Given the description of an element on the screen output the (x, y) to click on. 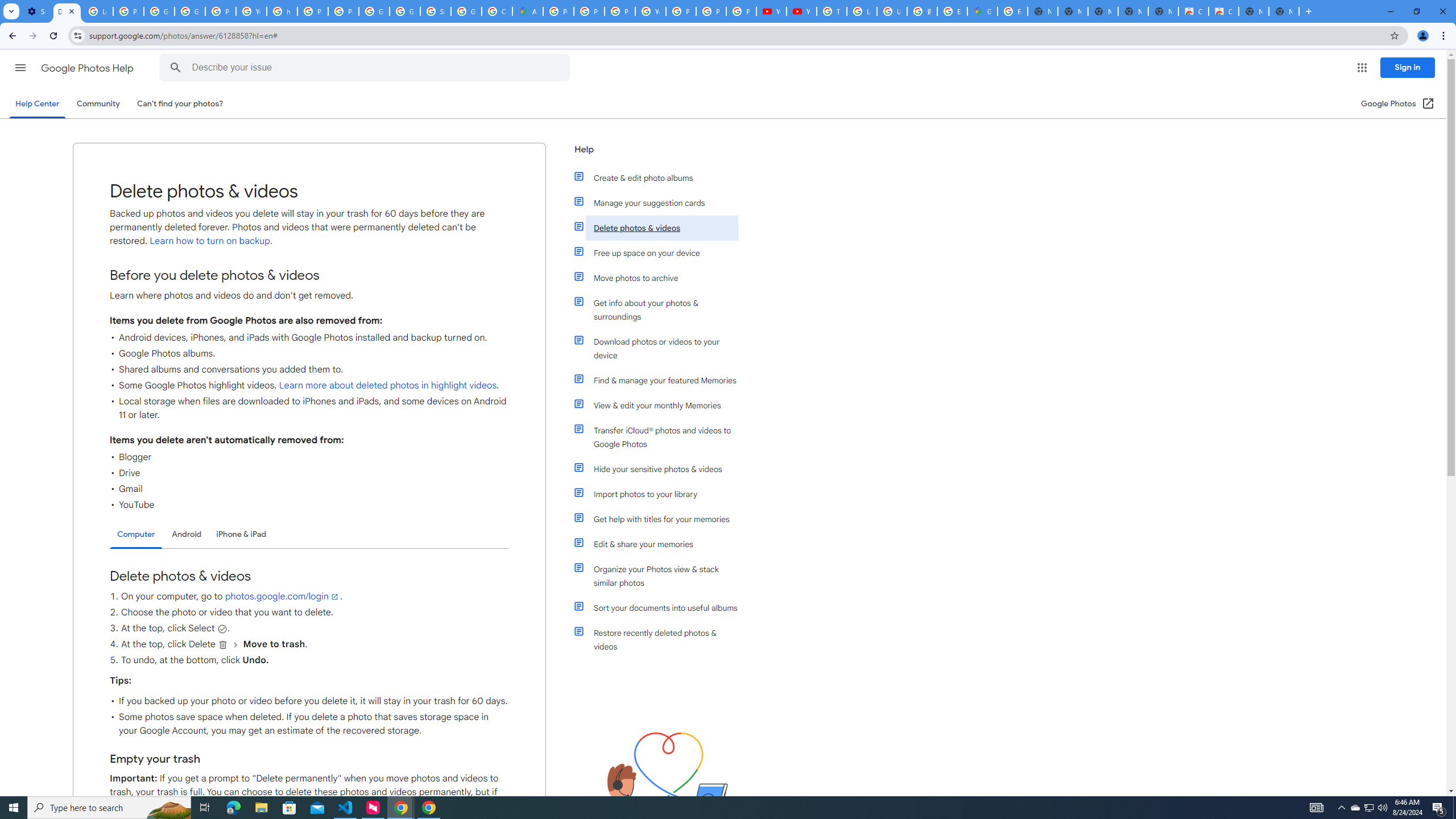
Hide your sensitive photos & videos (661, 469)
 Learn how to turn on backup (208, 240)
Privacy Help Center - Policies Help (312, 11)
photos.google.com/login (282, 596)
Computer (136, 534)
Download photos or videos to your device (661, 348)
Tips & tricks for Chrome - Google Chrome Help (830, 11)
